Given the description of an element on the screen output the (x, y) to click on. 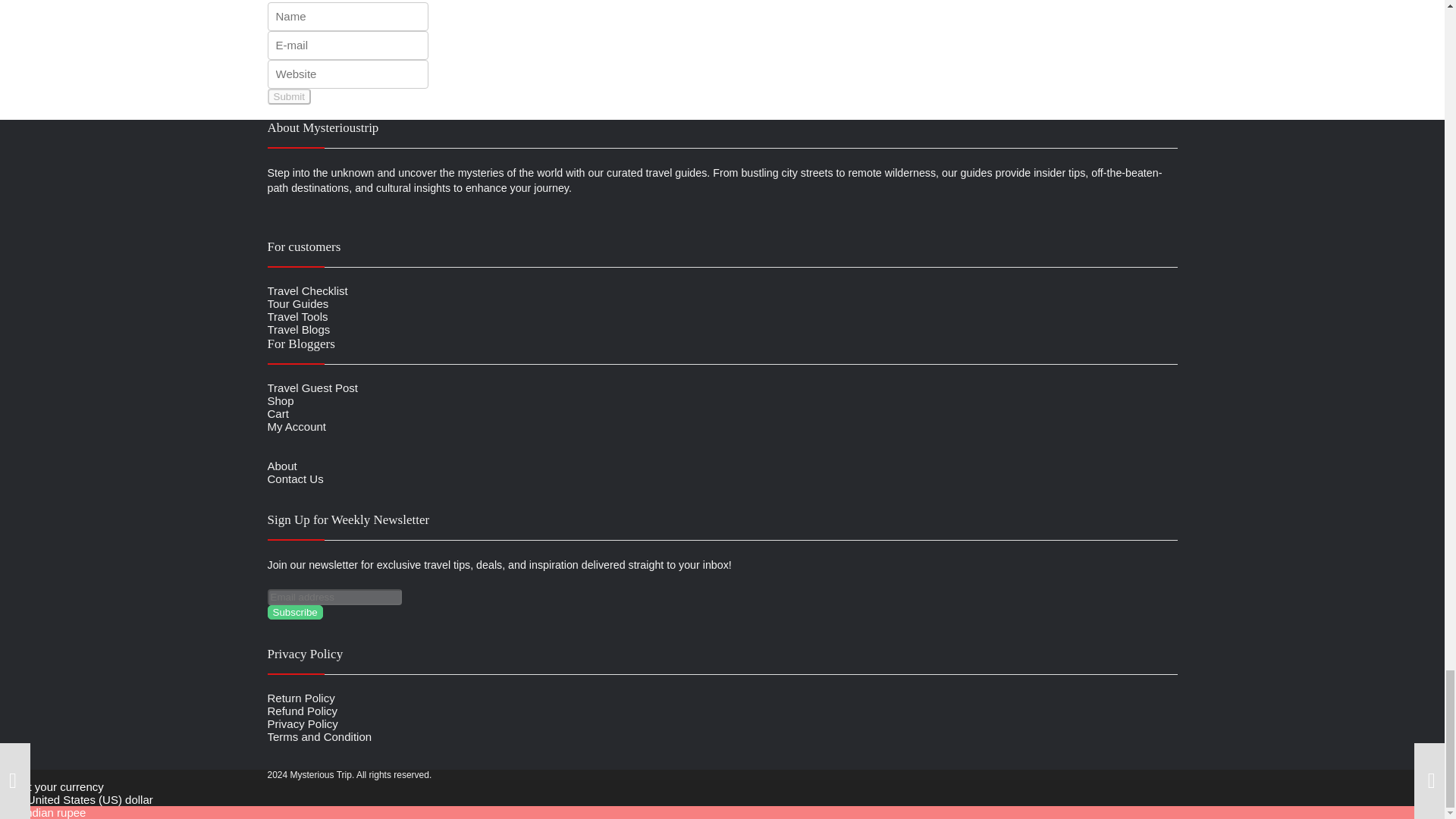
Submit (288, 96)
Subscribe (293, 612)
